Given the description of an element on the screen output the (x, y) to click on. 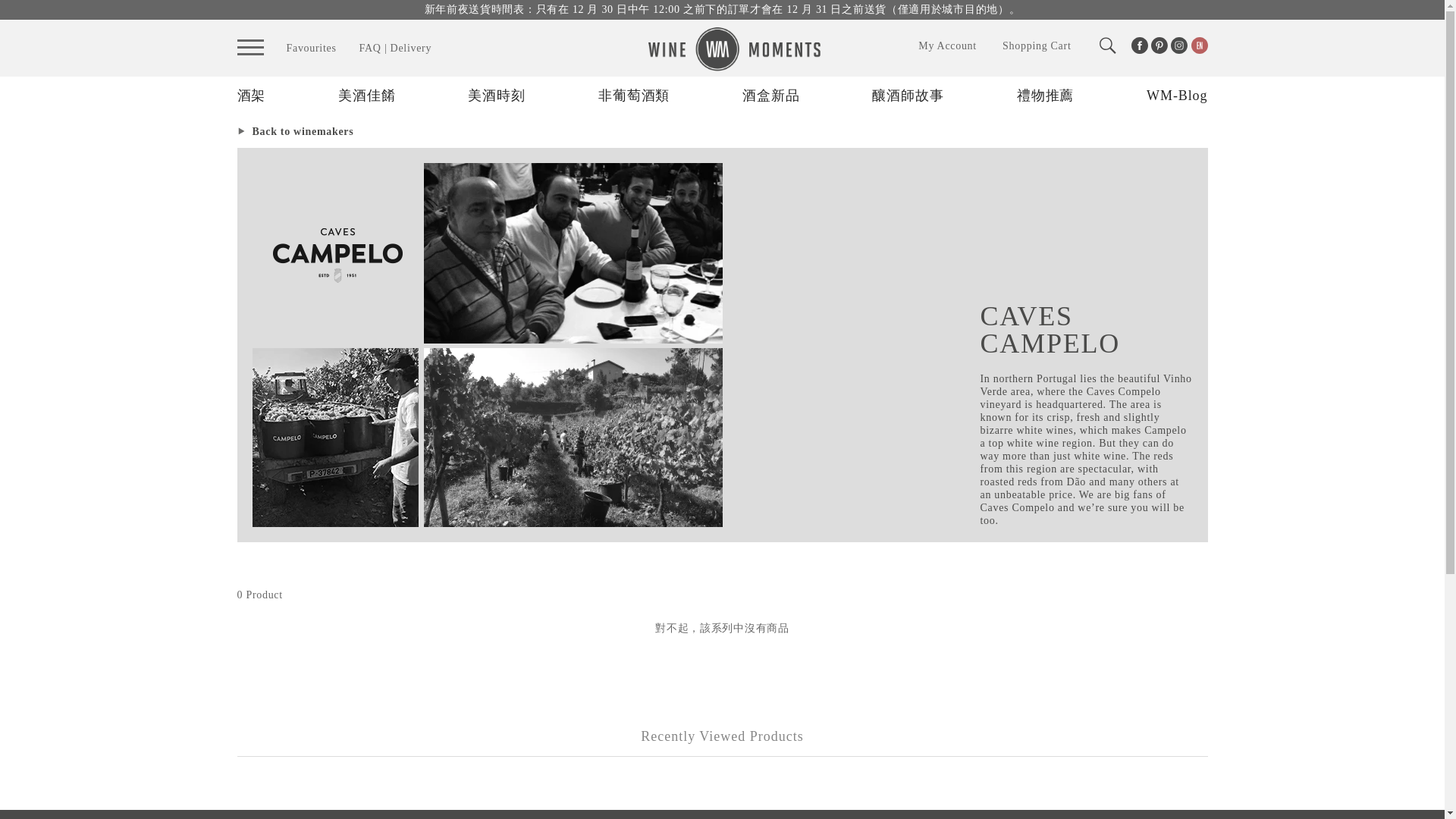
My Account (947, 45)
View Favourites (311, 48)
Favourites (311, 48)
WINE MOMENTS on Facebook (1139, 45)
Shopping Cart (1036, 45)
WINE MOMENTS on Instagram (1179, 45)
WINE MOMENTS on Pinterest (1159, 45)
